Given the description of an element on the screen output the (x, y) to click on. 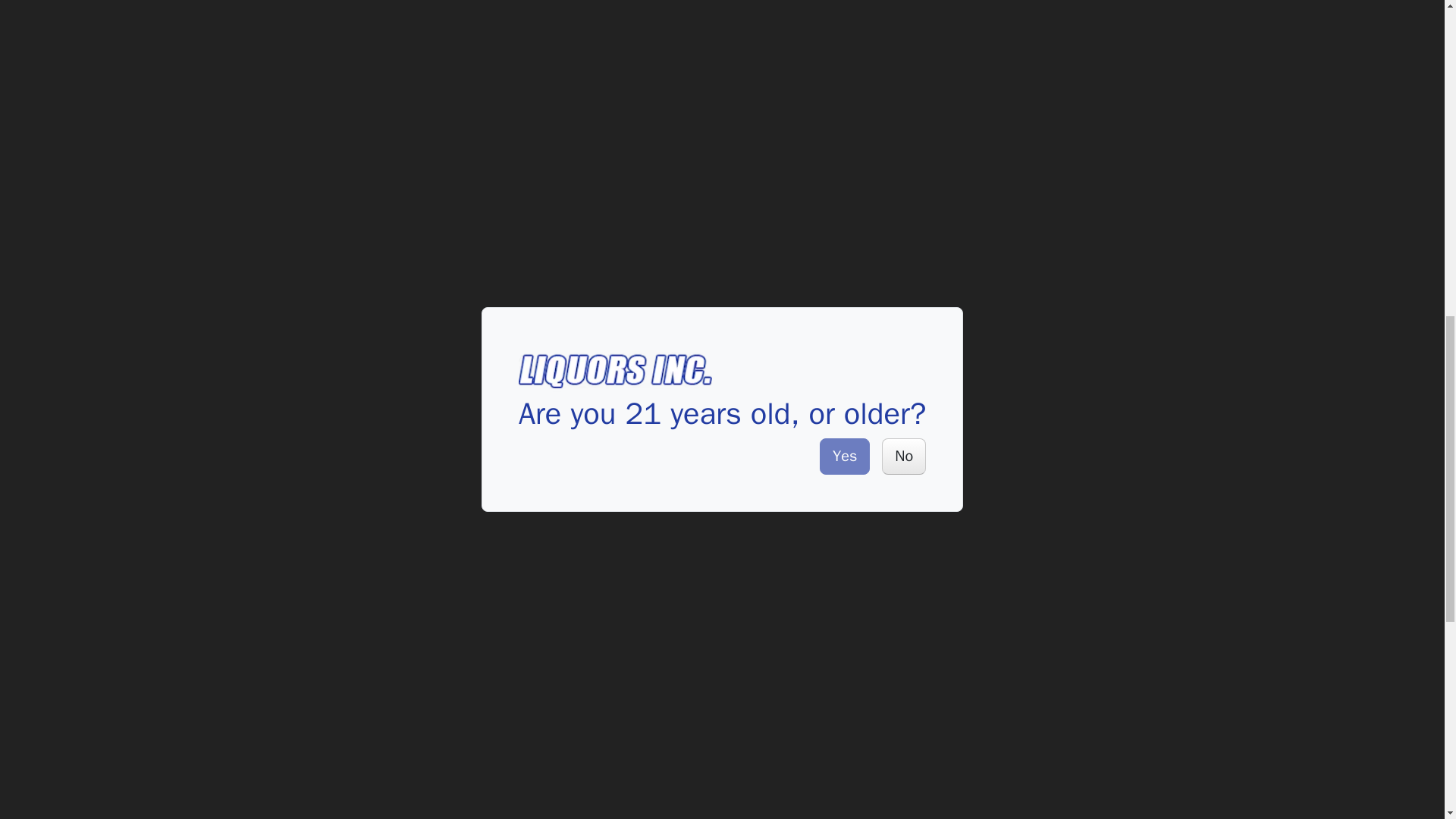
Jeb Dunnuck 96 point rating. (756, 43)
Wine Spectator 95 point rating. (774, 201)
James Suckling 94 point rating. (775, 457)
Wine Spectator 94 point rating (593, 792)
Vinous 95 point rating (547, 792)
James Suckling 98 point rating (1039, 792)
Wine Advocate 92 point rating (645, 792)
Wine Advocate 95 point rating. (770, 302)
Wine Advocate 89-91 point rating (353, 774)
Decanter 93 point rating. (729, 542)
